Given the description of an element on the screen output the (x, y) to click on. 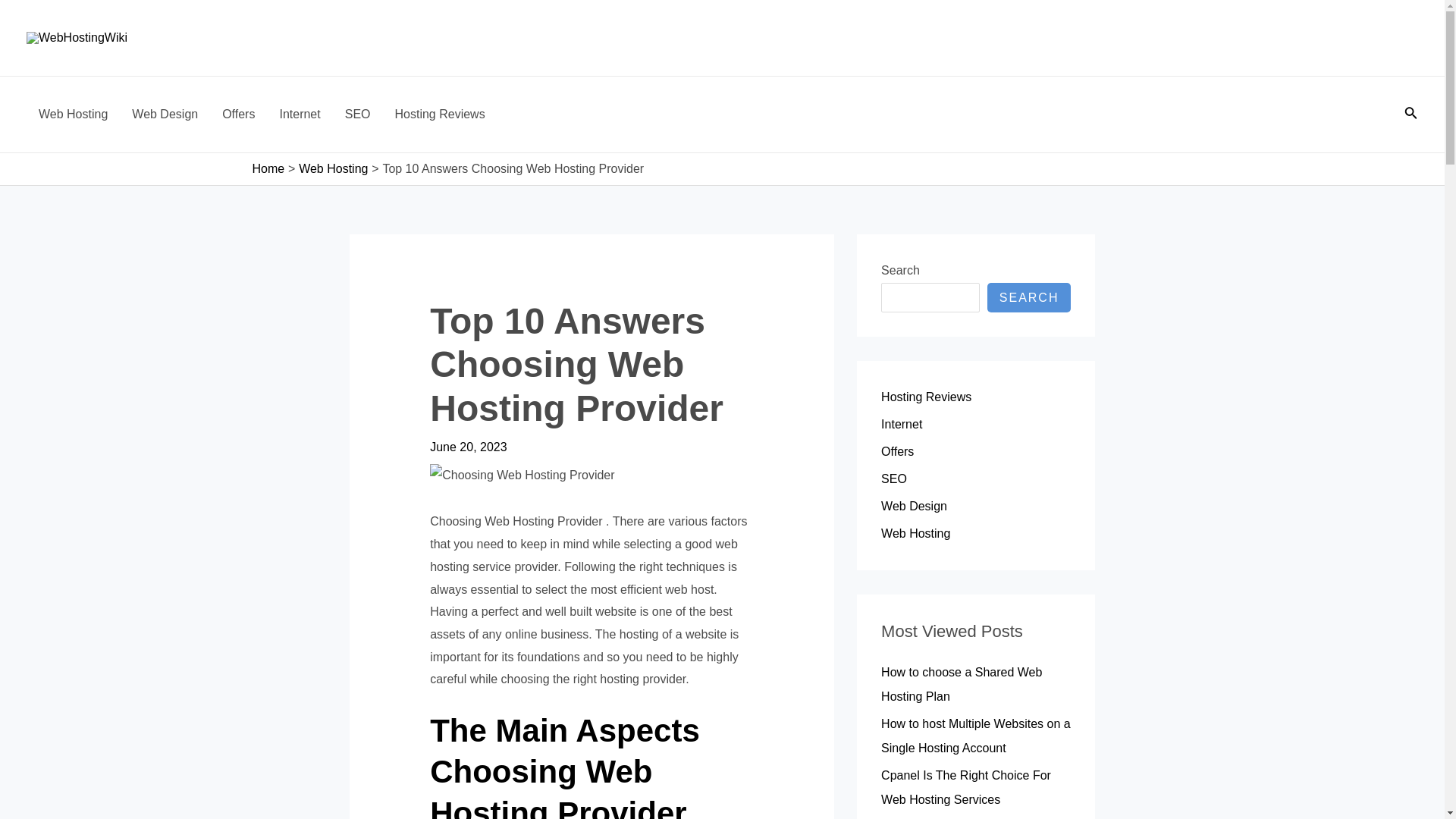
SEARCH (1029, 297)
SEO (893, 478)
Home (267, 168)
Offers (897, 451)
Hosting Reviews (925, 396)
Web Design (164, 114)
Web Hosting (72, 114)
Web Hosting (333, 168)
Web Design (913, 505)
Internet (900, 423)
